Given the description of an element on the screen output the (x, y) to click on. 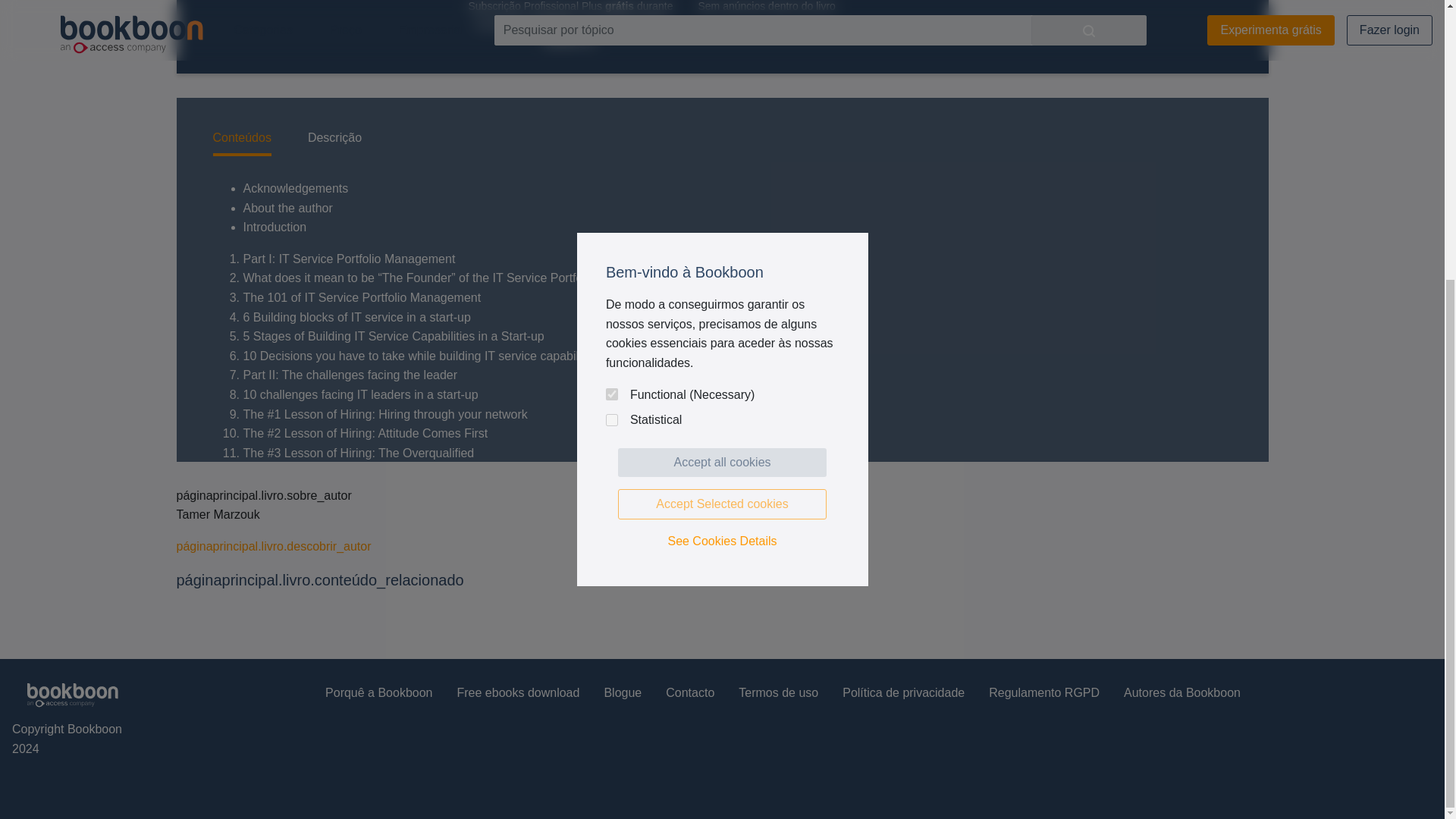
See Cookies Details (722, 124)
Accept Selected cookies (722, 87)
STATISTICAL (611, 4)
Accept all cookies (722, 45)
